Given the description of an element on the screen output the (x, y) to click on. 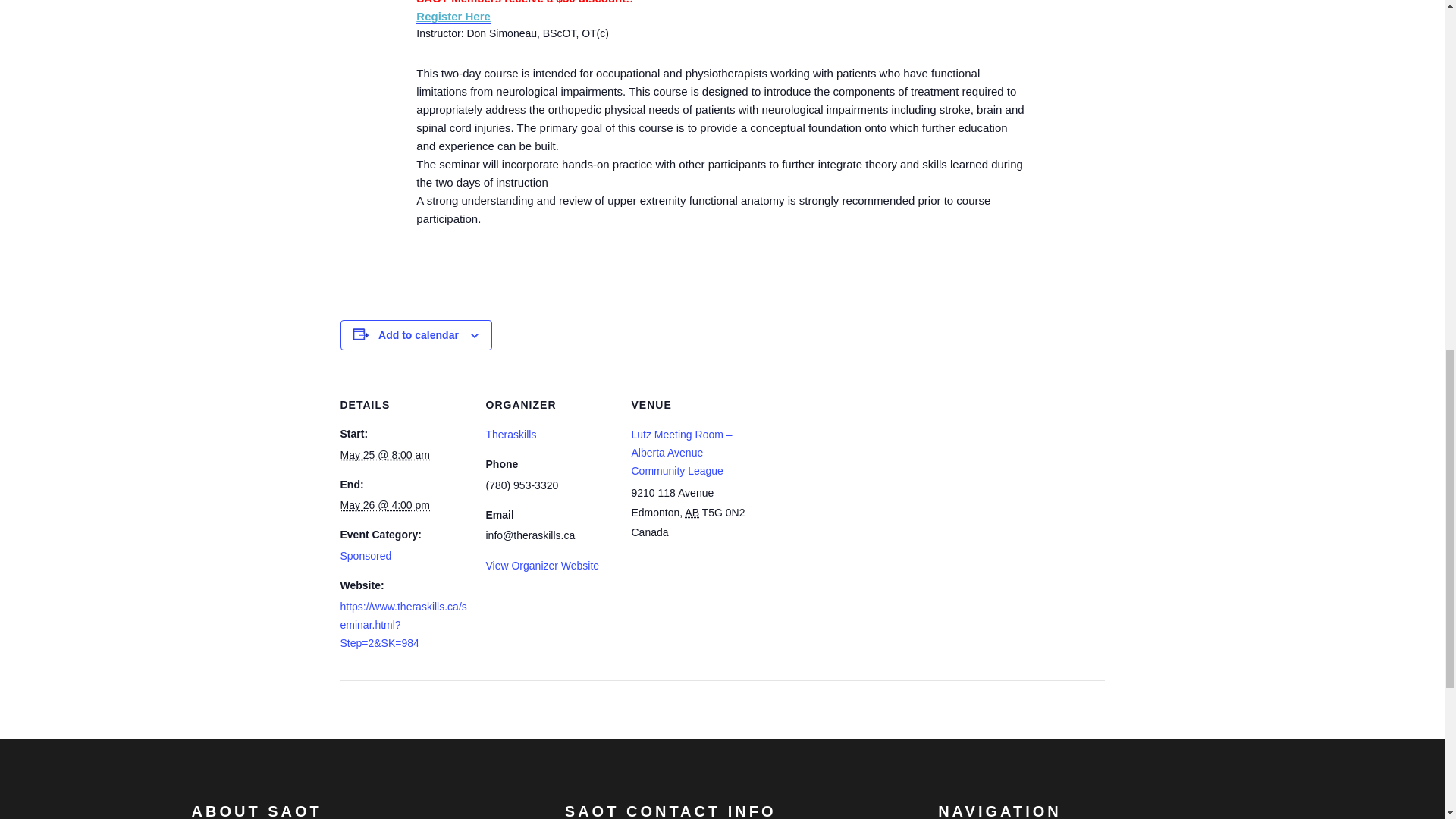
Theraskills (509, 434)
AB (691, 512)
2024-05-25 (384, 454)
2024-05-26 (384, 504)
